Given the description of an element on the screen output the (x, y) to click on. 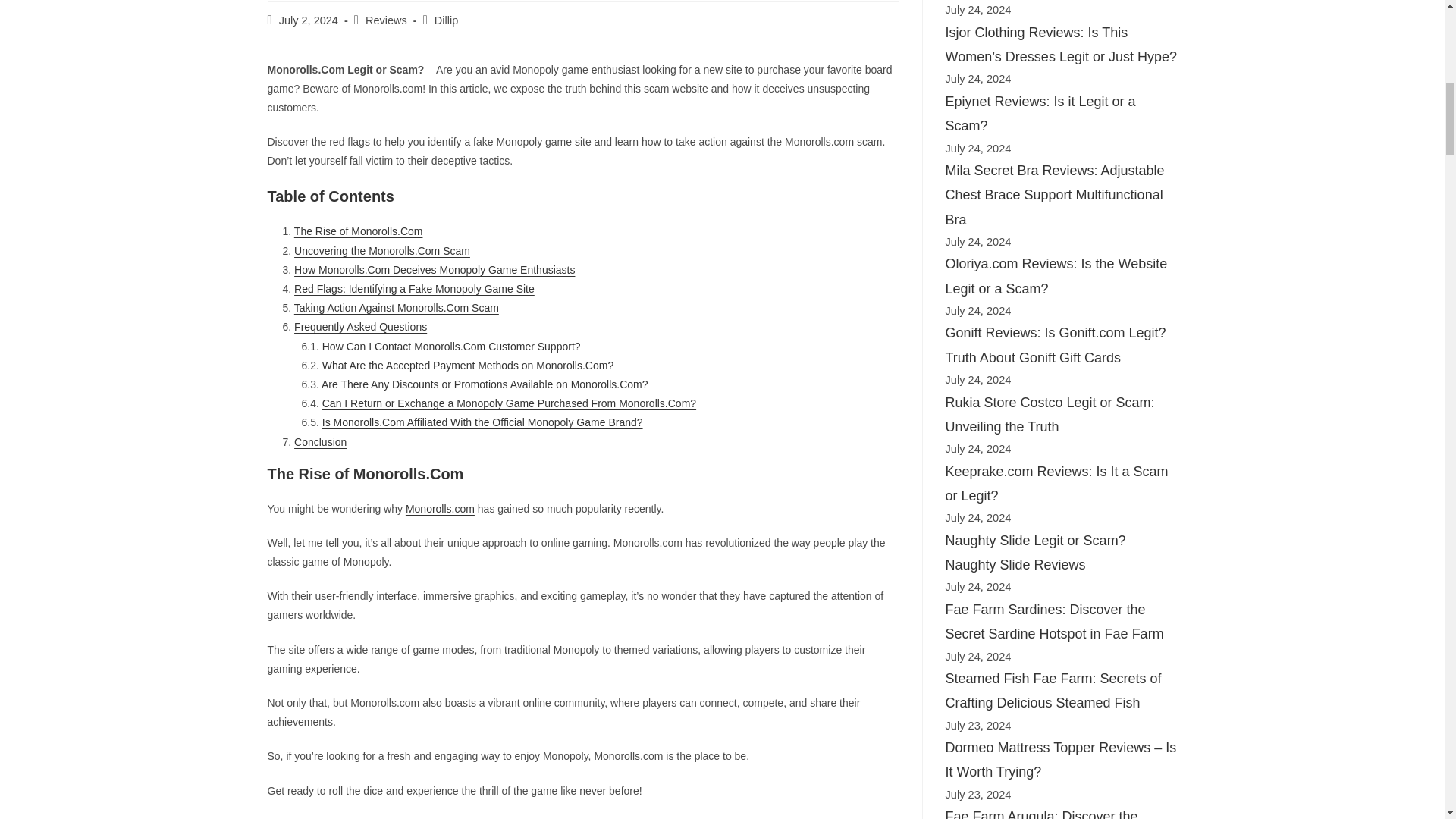
How Can I Contact Monorolls.Com Customer Support? (450, 346)
Taking Action Against Monorolls.Com Scam (396, 307)
How Monorolls.Com Deceives Monopoly Game Enthusiasts (434, 269)
The Rise of Monorolls.Com (358, 231)
Frequently Asked Questions (360, 326)
Dillip (445, 20)
Uncovering the Monorolls.Com Scam (382, 250)
What Are the Accepted Payment Methods on Monorolls.Com? (466, 365)
Reviews (386, 20)
Red Flags: Identifying a Fake Monopoly Game Site (414, 288)
Monorolls.com (440, 508)
Posts by Dillip (445, 20)
